Given the description of an element on the screen output the (x, y) to click on. 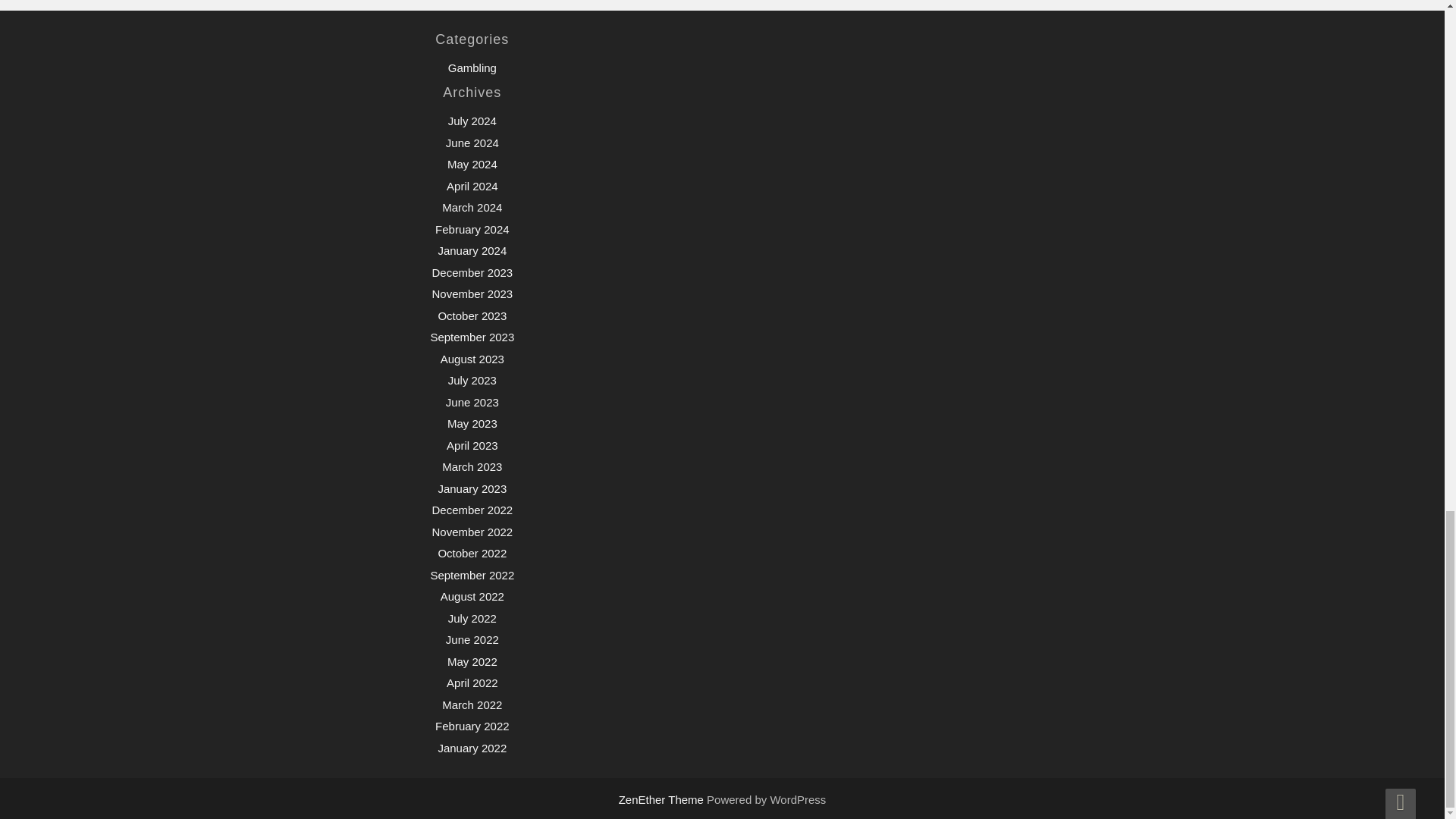
May 2024 (471, 164)
March 2024 (472, 206)
Gambling (472, 67)
January 2024 (472, 250)
June 2024 (472, 142)
ZenEther Theme (662, 799)
April 2023 (471, 445)
October 2023 (472, 315)
June 2023 (472, 401)
December 2023 (471, 272)
February 2024 (472, 228)
June 2022 (472, 639)
November 2022 (471, 531)
December 2022 (471, 509)
July 2024 (472, 120)
